Given the description of an element on the screen output the (x, y) to click on. 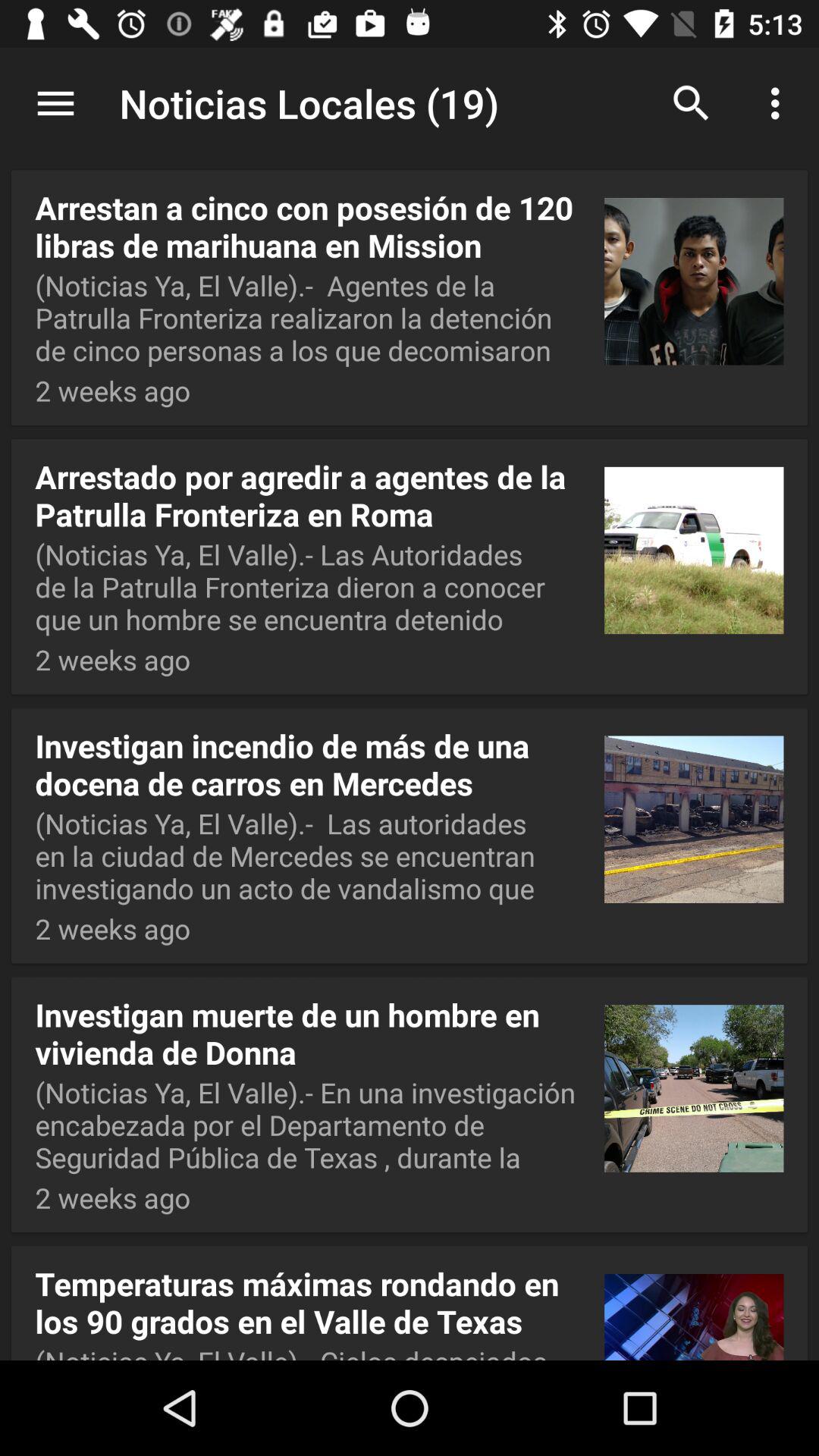
click the icon next to the noticias locales (19) (55, 103)
